Given the description of an element on the screen output the (x, y) to click on. 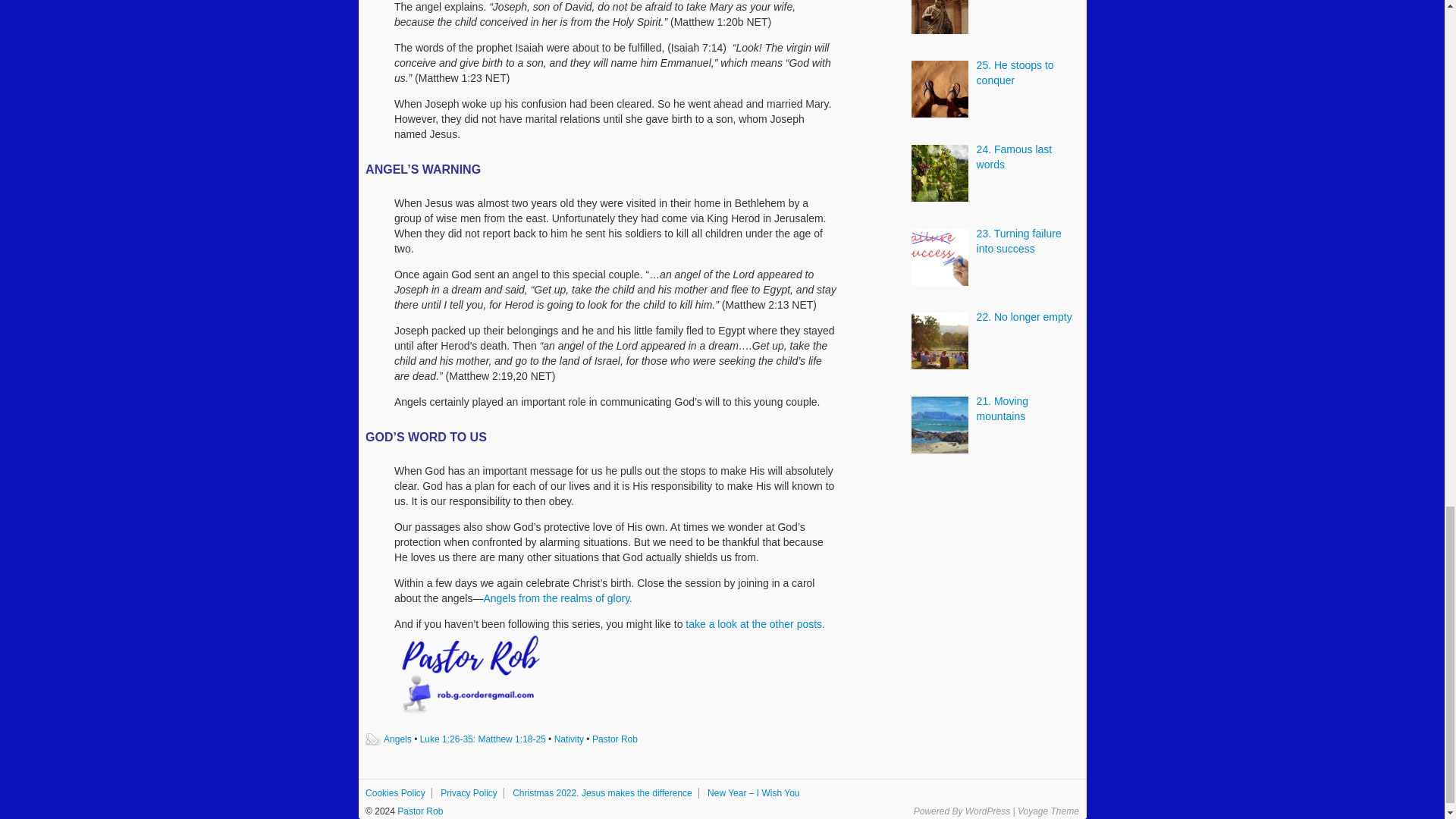
Angels (398, 738)
Angels from the realms of glory. (557, 598)
23. Turning failure into success (1018, 240)
25. He stoops to conquer (1015, 72)
24. Famous last words (1014, 156)
22. No longer empty (1023, 316)
26. A Man Called Peter (1016, 1)
Nativity (568, 738)
21. Moving mountains (1001, 408)
Luke 1:26-35: Matthew 1:18-25 (483, 738)
